Given the description of an element on the screen output the (x, y) to click on. 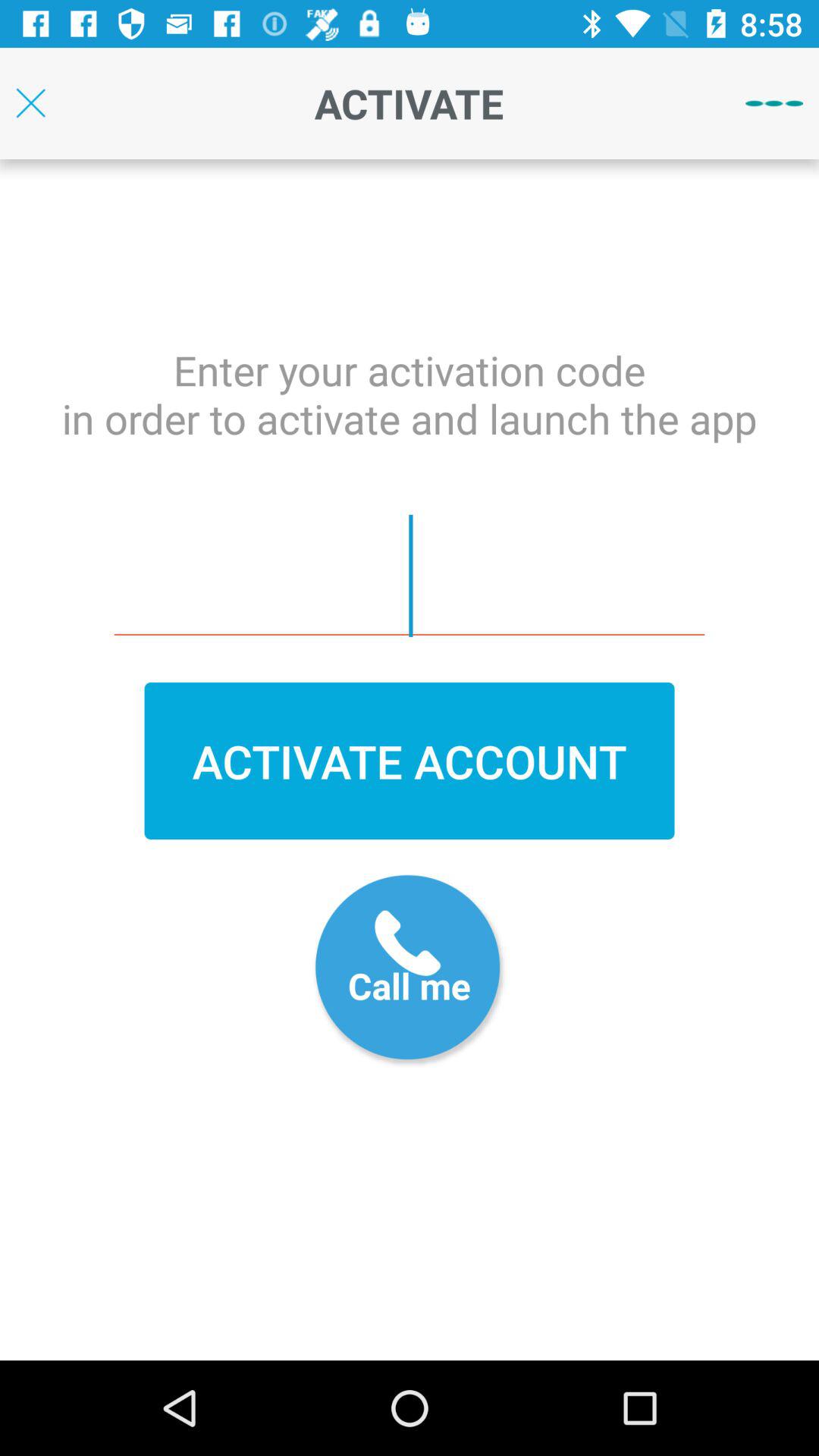
close window (30, 103)
